Given the description of an element on the screen output the (x, y) to click on. 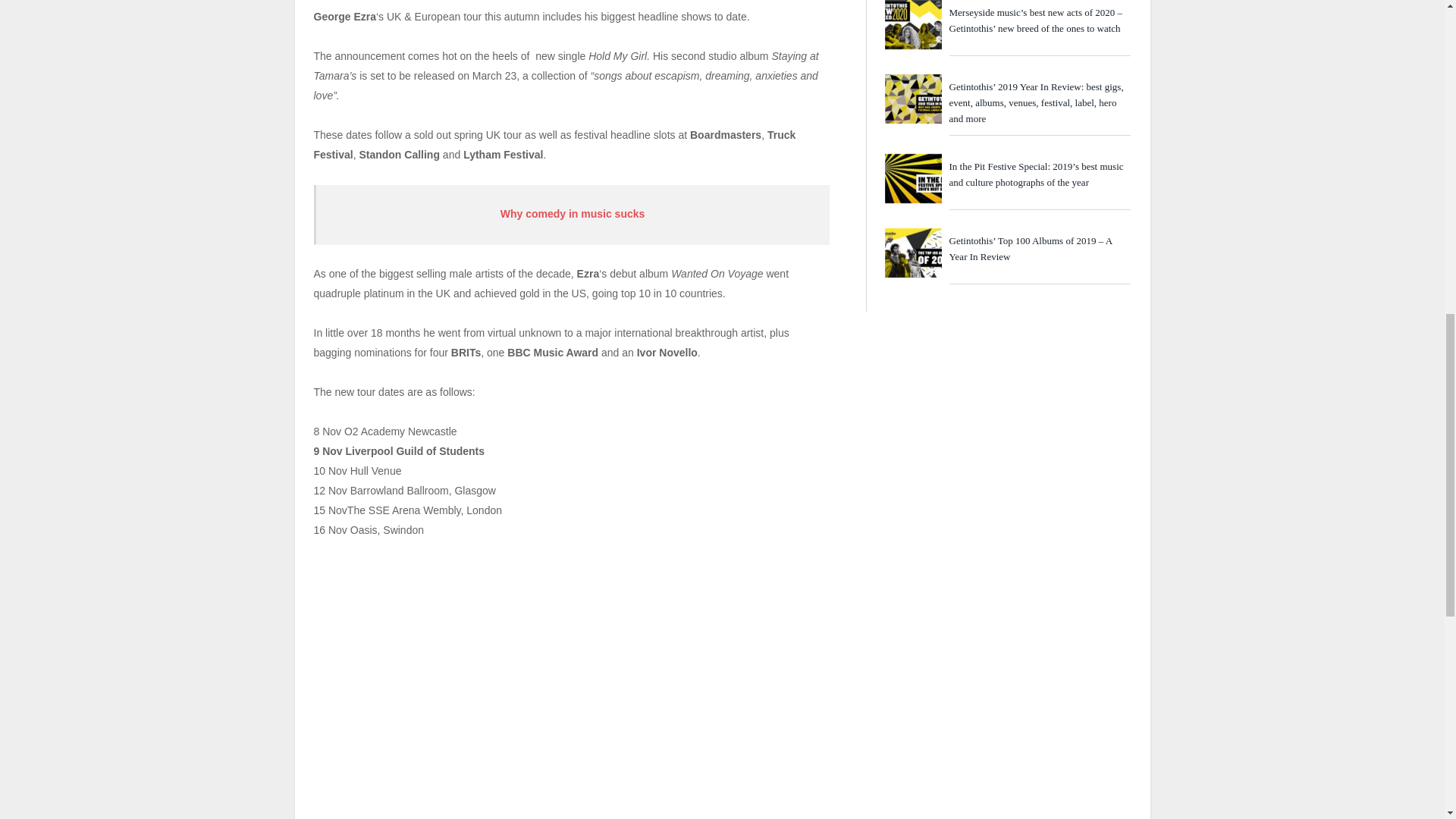
Why comedy in music sucks (572, 214)
